Given the description of an element on the screen output the (x, y) to click on. 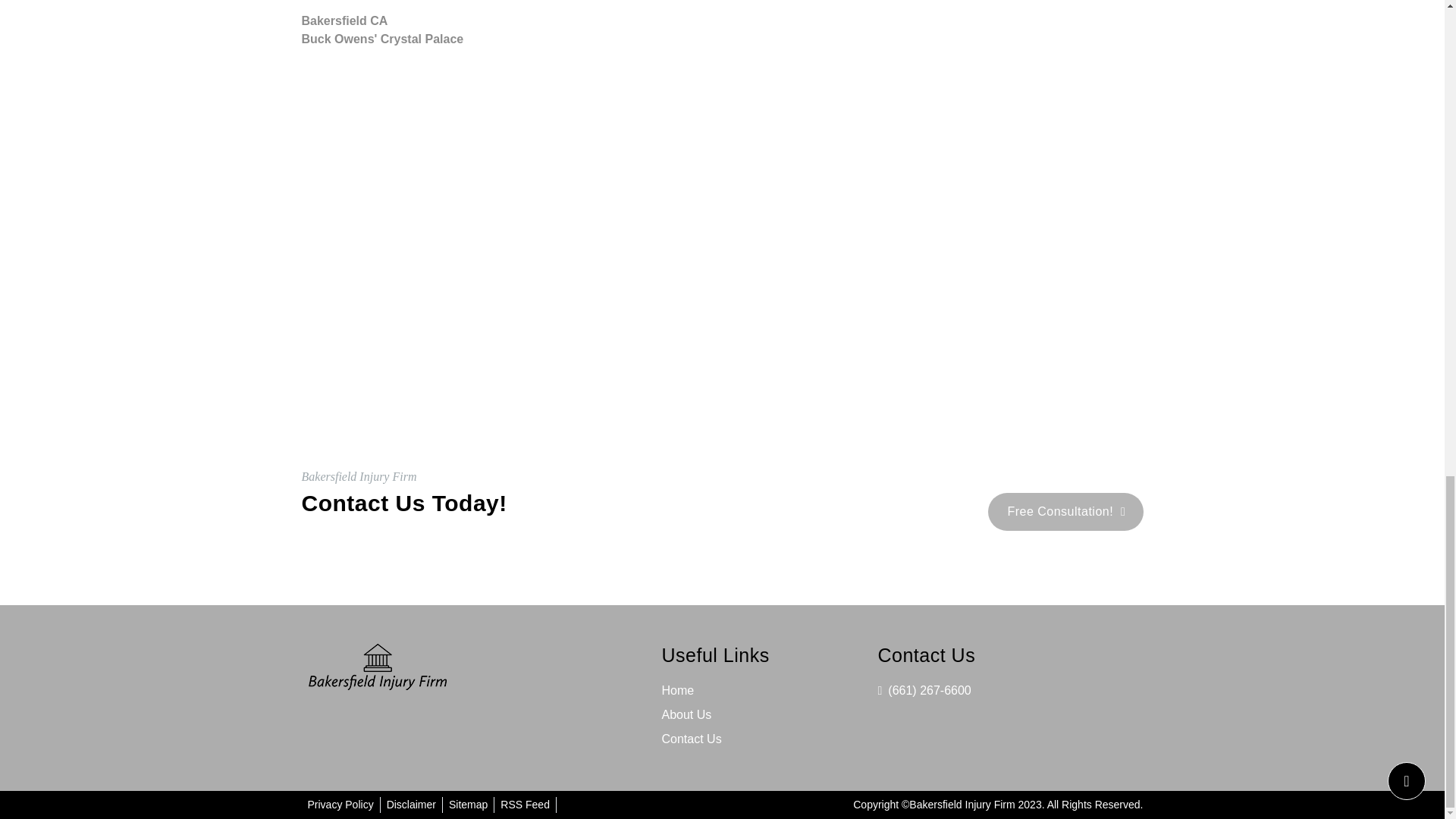
Free Consultation! (1065, 511)
Sitemap (467, 804)
Contact Us (690, 738)
Home (677, 689)
About Us (686, 714)
Disclaimer (411, 804)
Bakersfield CA (721, 21)
RSS Feed (525, 804)
Privacy Policy (340, 804)
Buck Owens' Crystal Palace (721, 39)
